Given the description of an element on the screen output the (x, y) to click on. 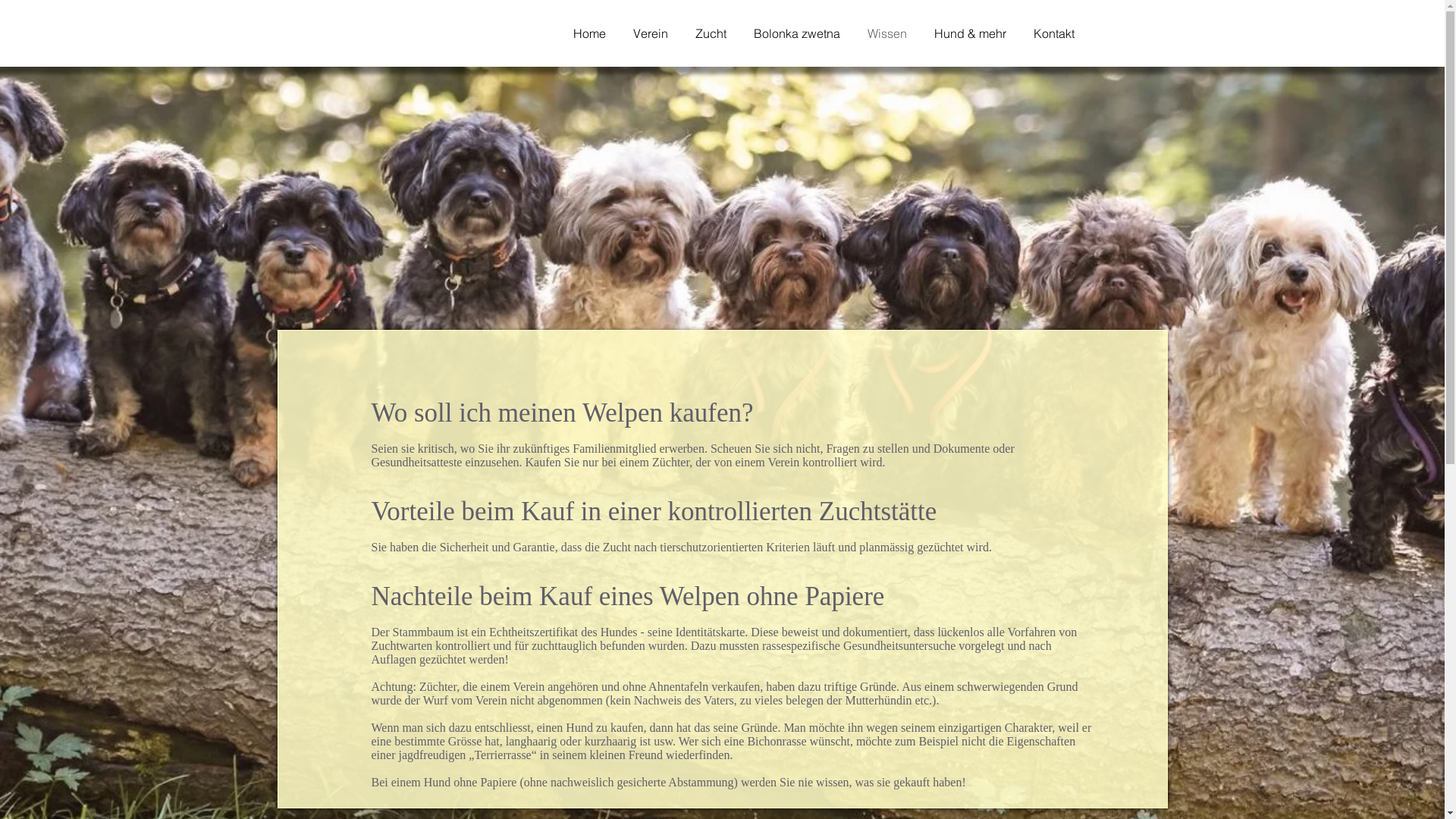
Home Element type: text (595, 33)
Zucht Element type: text (716, 33)
Verein Element type: text (655, 33)
Bolonka zwetna Element type: text (802, 33)
Hund & mehr Element type: text (976, 33)
Kontakt Element type: text (1059, 33)
Wissen Element type: text (892, 33)
